Given the description of an element on the screen output the (x, y) to click on. 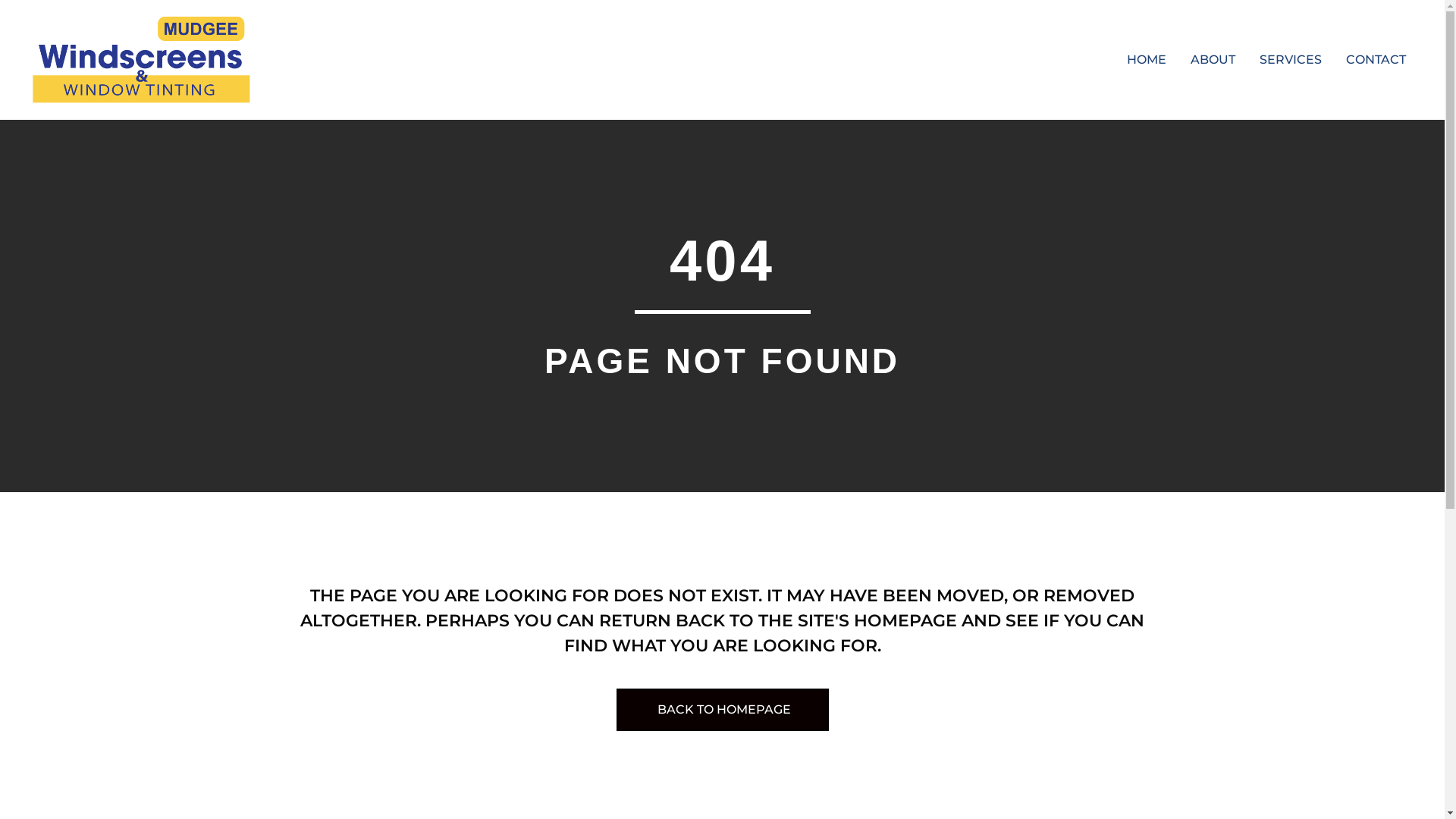
CONTACT Element type: text (1375, 59)
HOME Element type: text (1146, 59)
SERVICES Element type: text (1290, 59)
ABOUT Element type: text (1212, 59)
BACK TO HOMEPAGE Element type: text (721, 709)
